Given the description of an element on the screen output the (x, y) to click on. 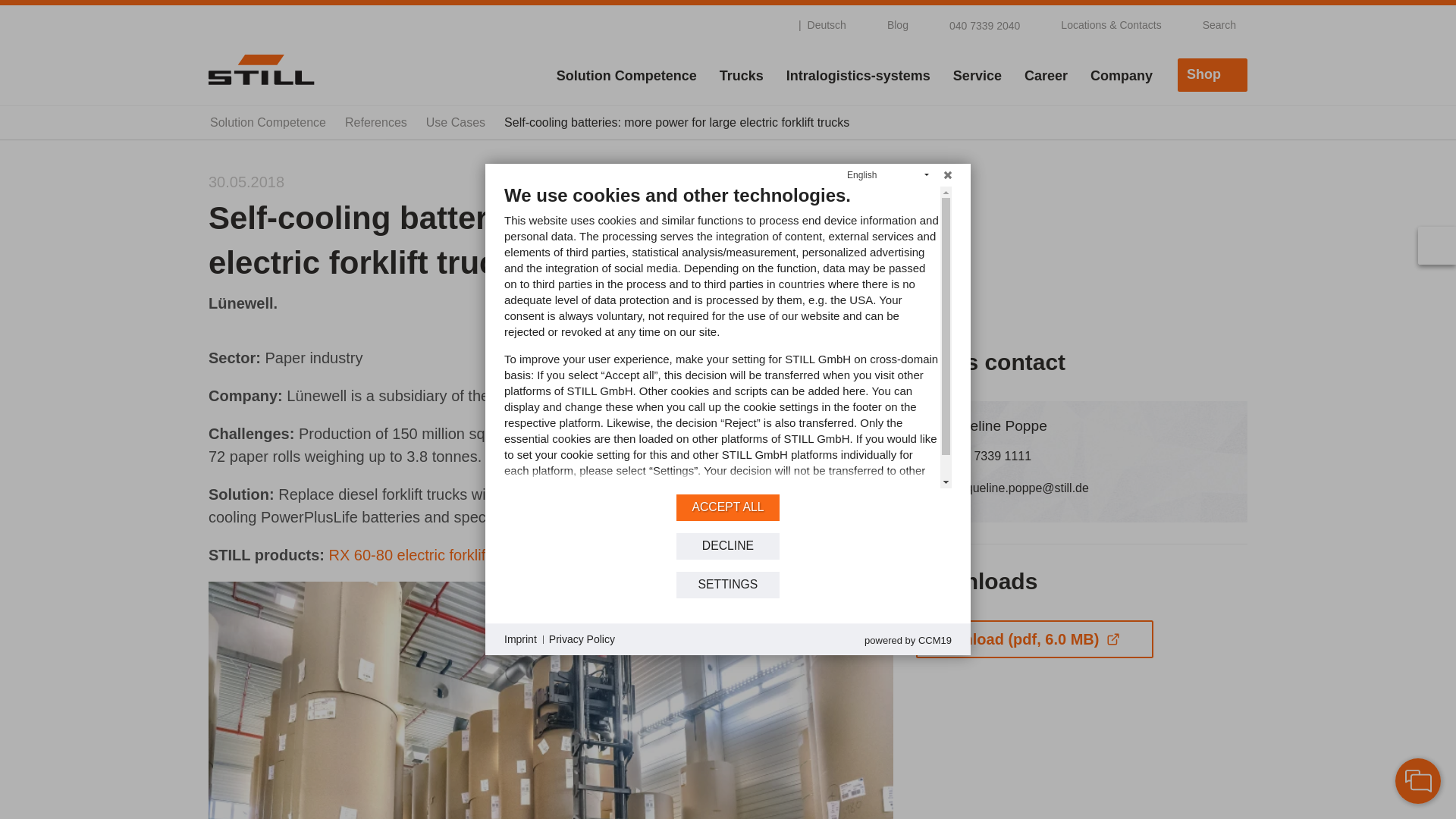
Call hotline (975, 24)
Shop (1212, 74)
STILL Germany (261, 69)
